Given the description of an element on the screen output the (x, y) to click on. 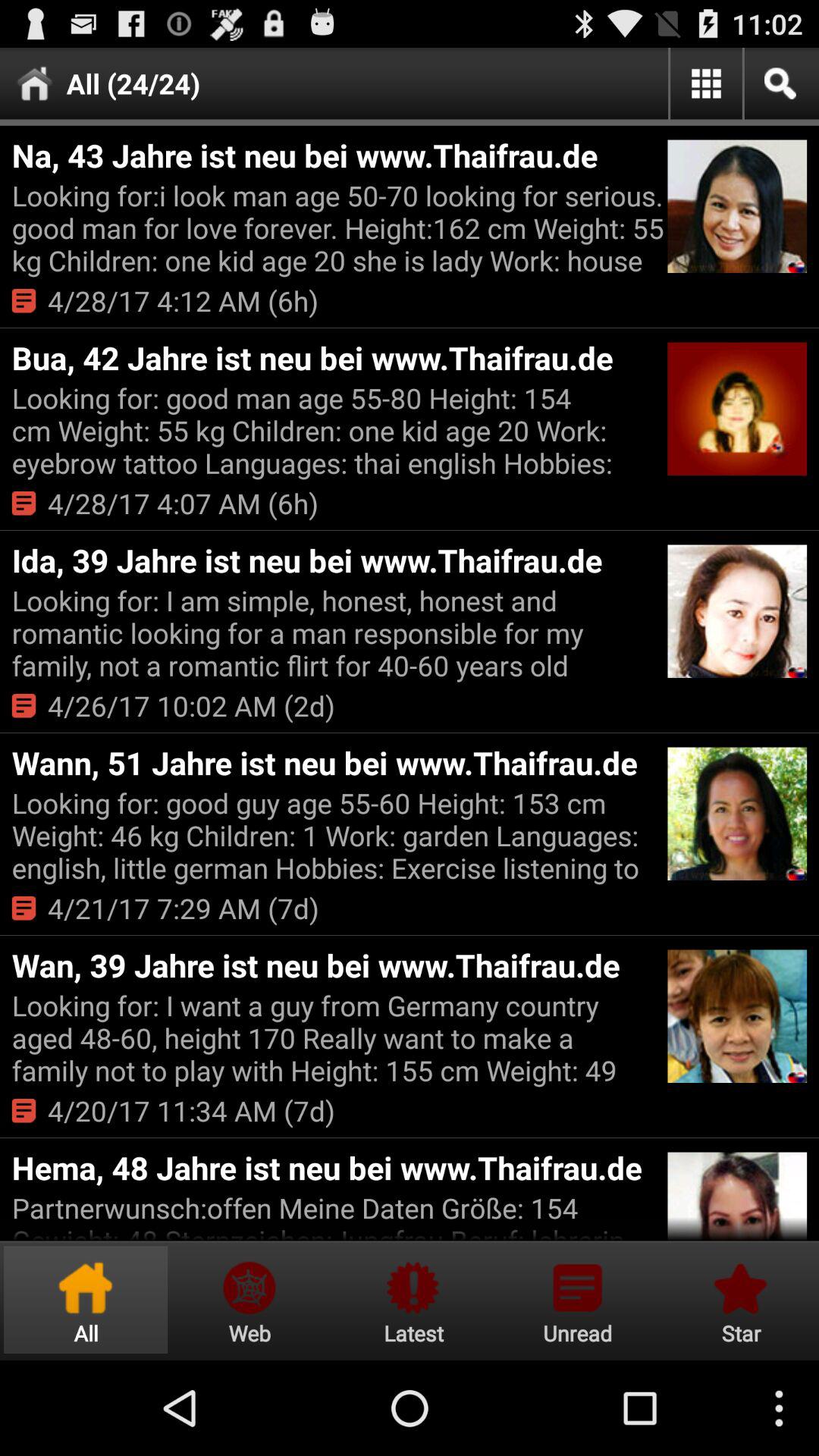
unread the box (577, 1299)
